Given the description of an element on the screen output the (x, y) to click on. 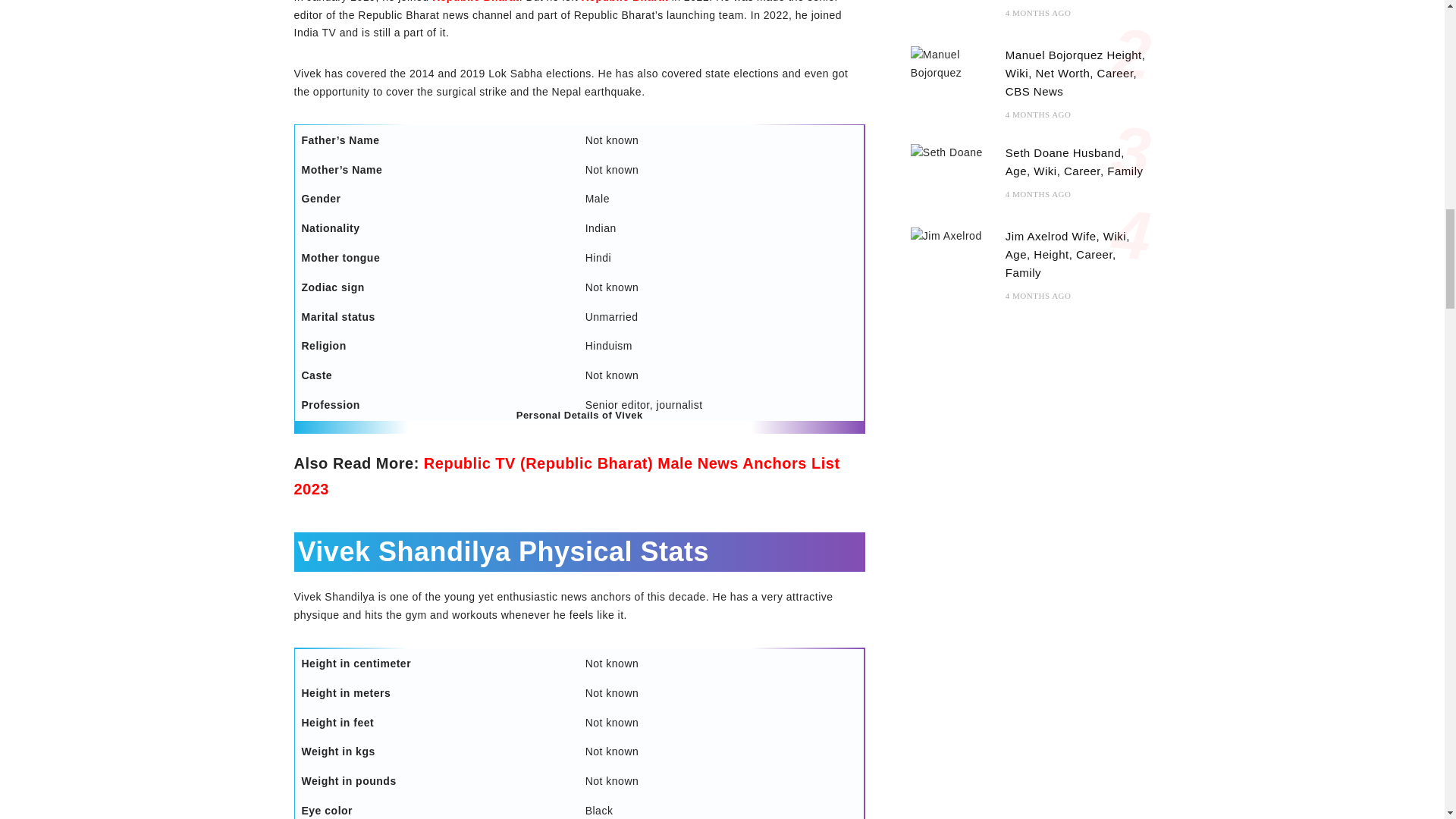
Republic Bharat (475, 1)
